Given the description of an element on the screen output the (x, y) to click on. 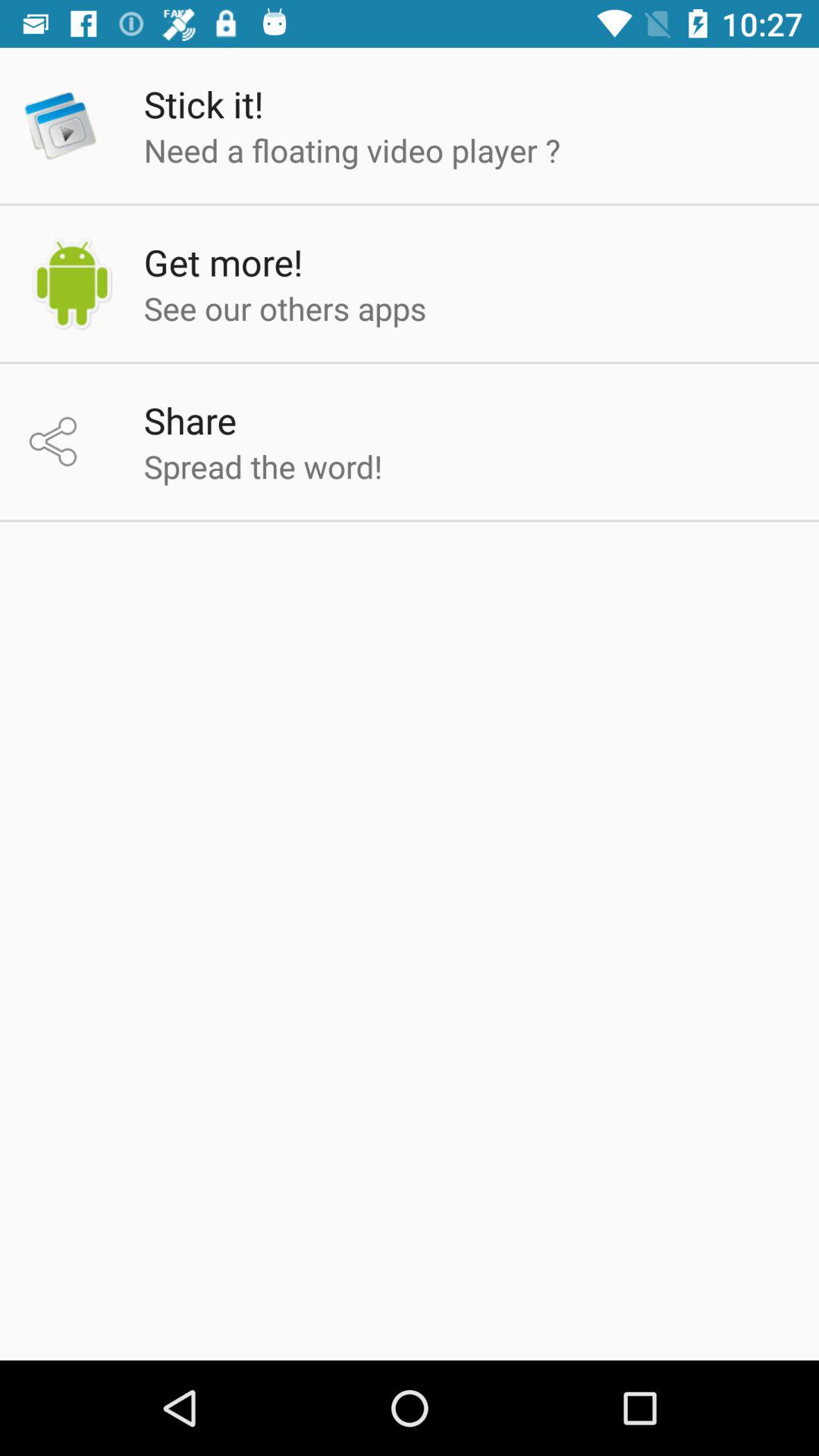
flip to get more! item (222, 261)
